Given the description of an element on the screen output the (x, y) to click on. 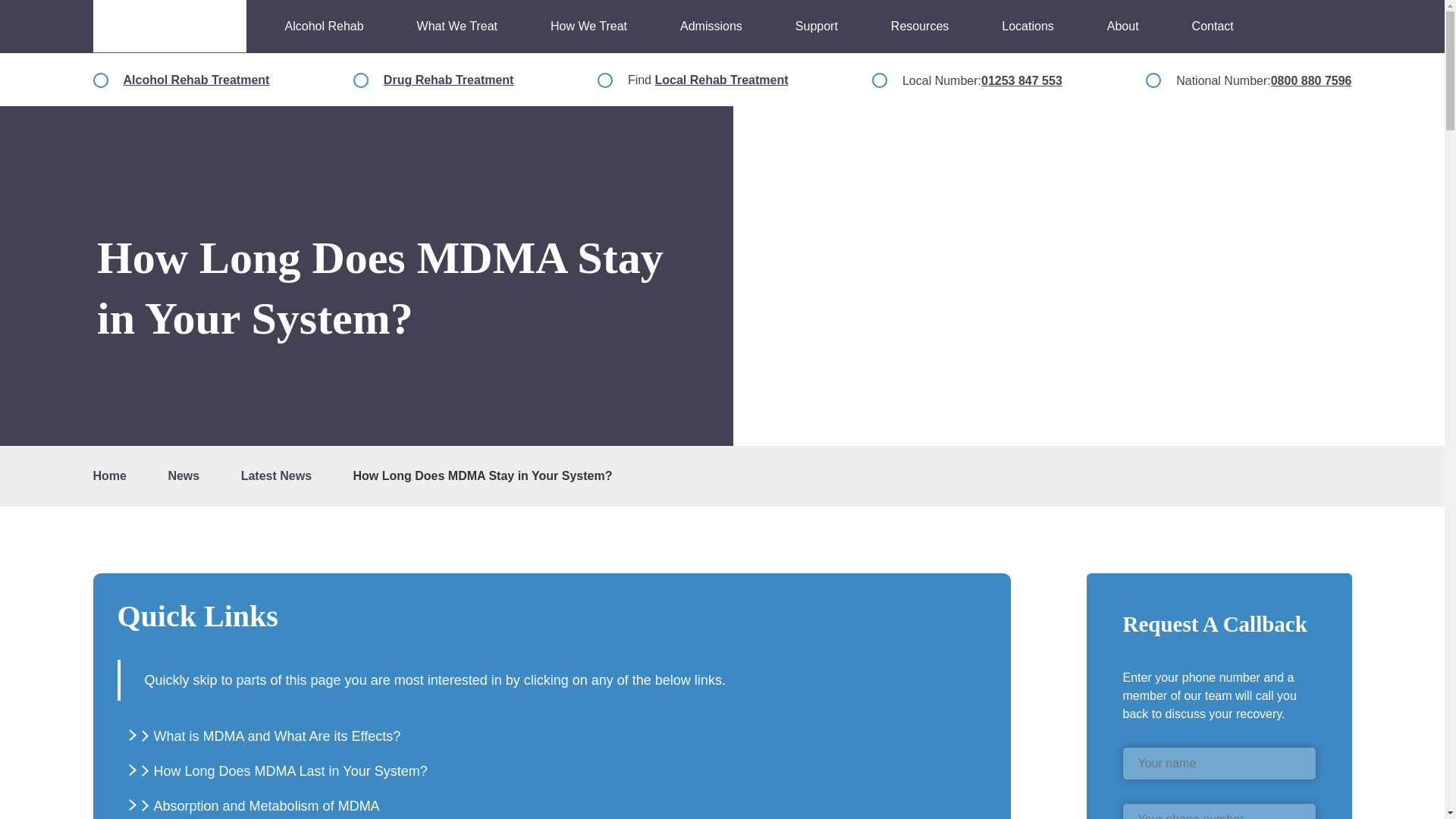
How We Treat (588, 26)
What We Treat (456, 26)
Alcohol Rehab (324, 26)
